Given the description of an element on the screen output the (x, y) to click on. 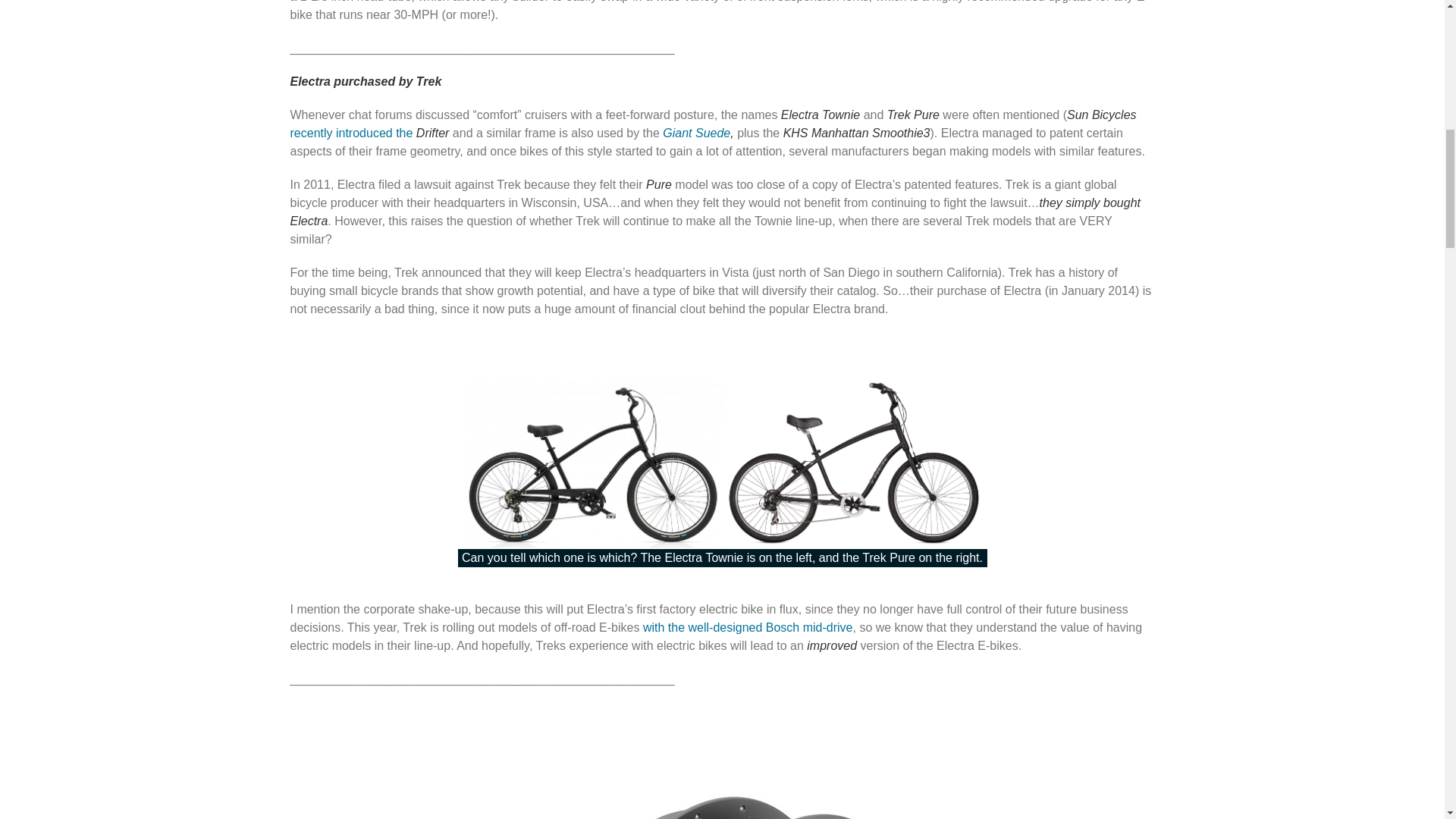
Trek Pure (912, 114)
Electra Townie (820, 114)
with the well-designed Bosch mid-drive (748, 626)
Giant Suede (696, 132)
Sun Bicycles recently introduced the Drifter (712, 123)
KHS Manhattan Smoothie3 (856, 132)
